Given the description of an element on the screen output the (x, y) to click on. 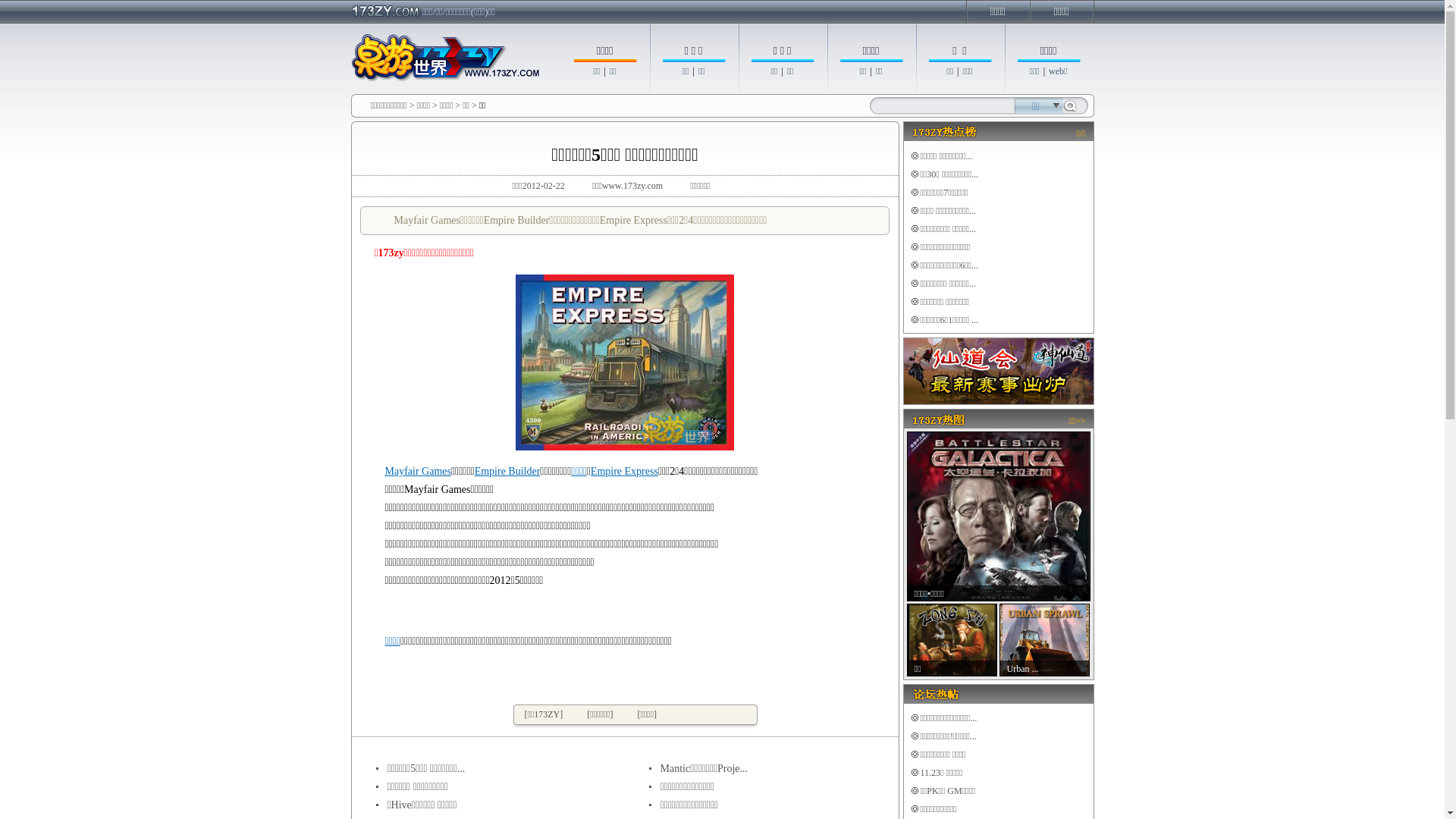
Empire Builder Element type: text (507, 470)
Empire Express Element type: text (624, 470)
Urban Sprawl Element type: hover (1044, 639)
Mayfair Games Element type: text (418, 470)
